Given the description of an element on the screen output the (x, y) to click on. 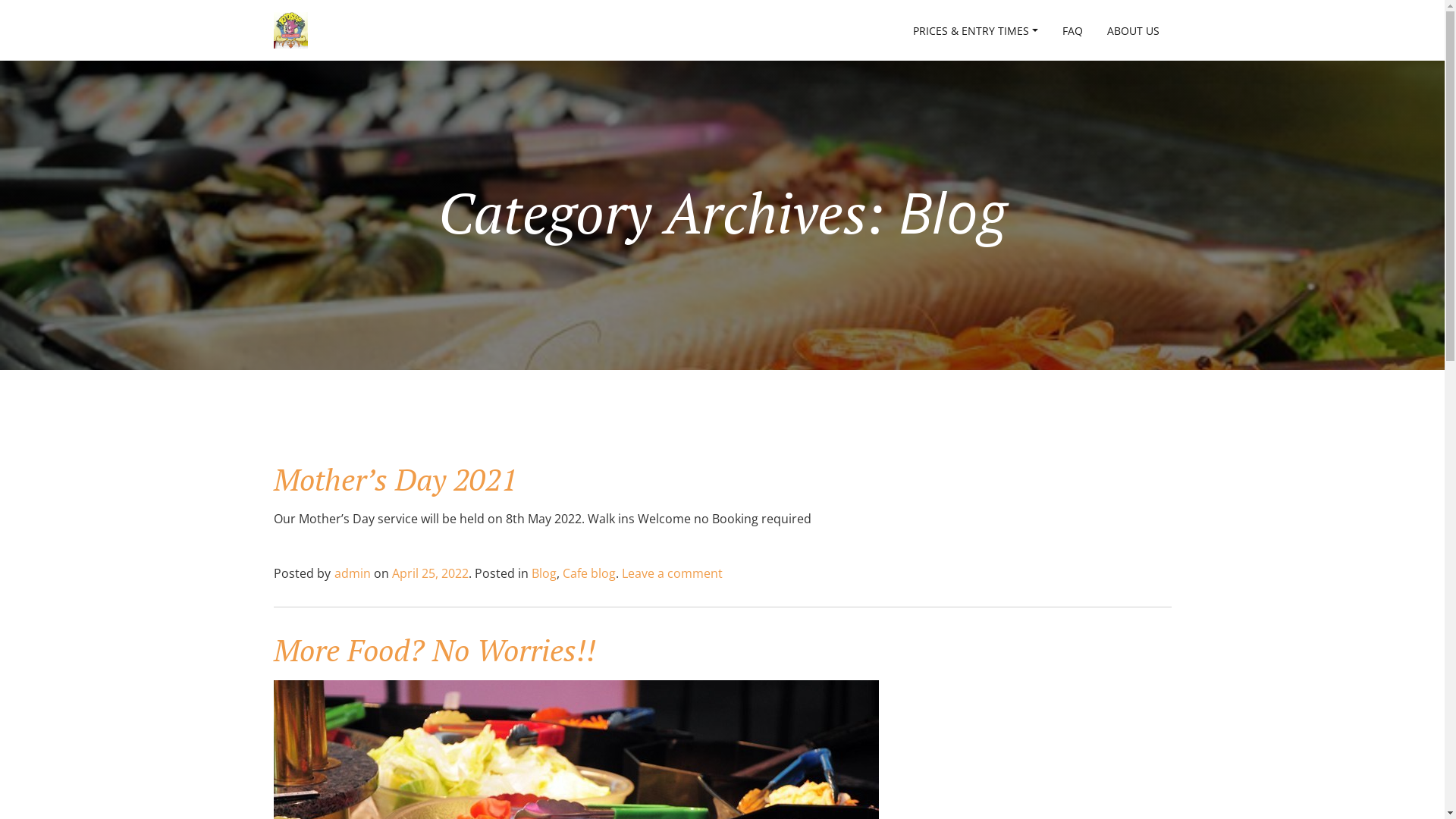
ABOUT US Element type: text (1133, 30)
April 25, 2022 Element type: text (429, 572)
Blog Element type: text (542, 572)
FAQ Element type: text (1071, 30)
admin Element type: text (351, 572)
PRICES & ENTRY TIMES Element type: text (975, 30)
Cafe blog Element type: text (588, 572)
More Food? No Worries!! Element type: text (434, 649)
